Given the description of an element on the screen output the (x, y) to click on. 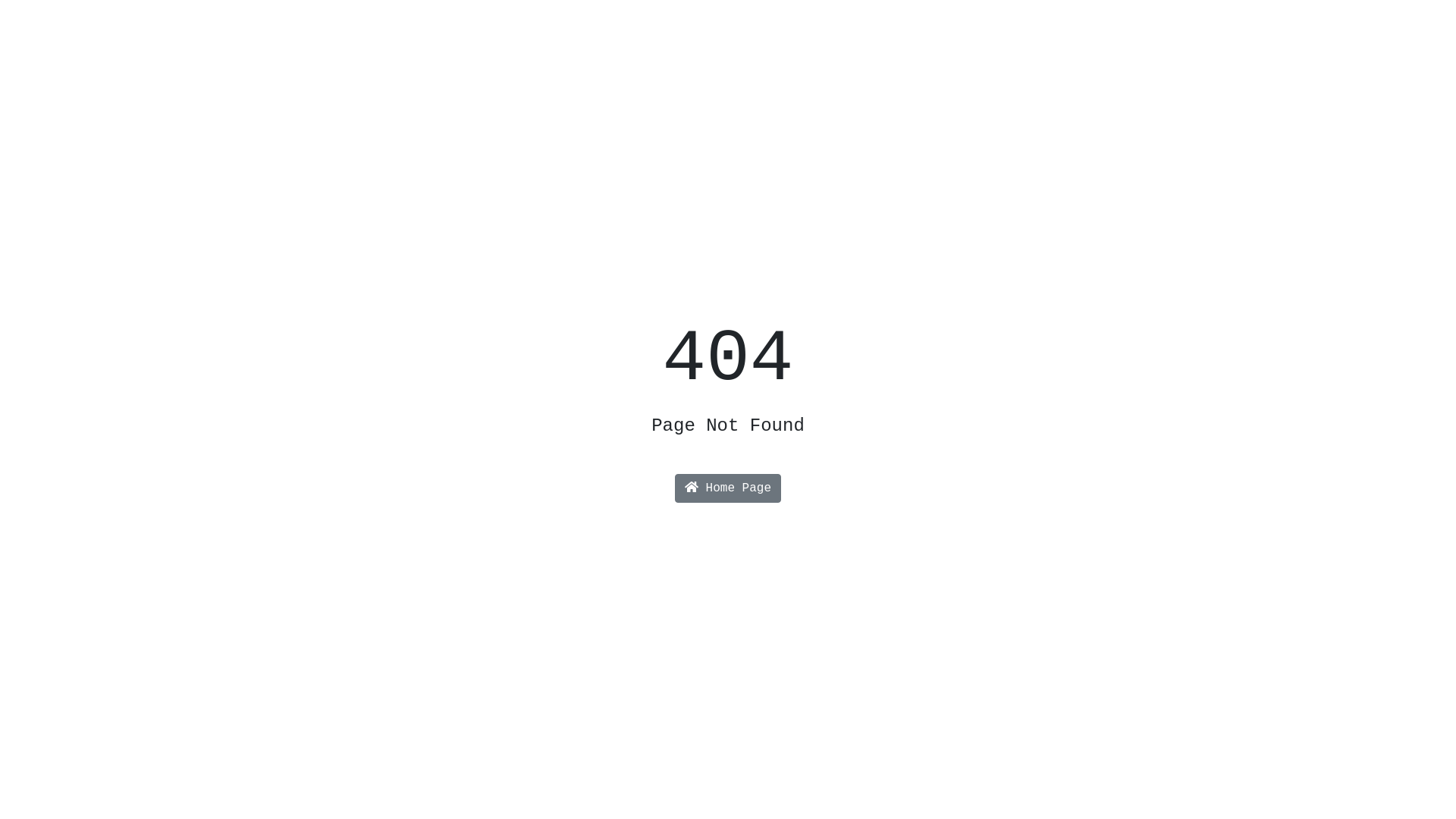
Home Page Element type: text (727, 487)
